Given the description of an element on the screen output the (x, y) to click on. 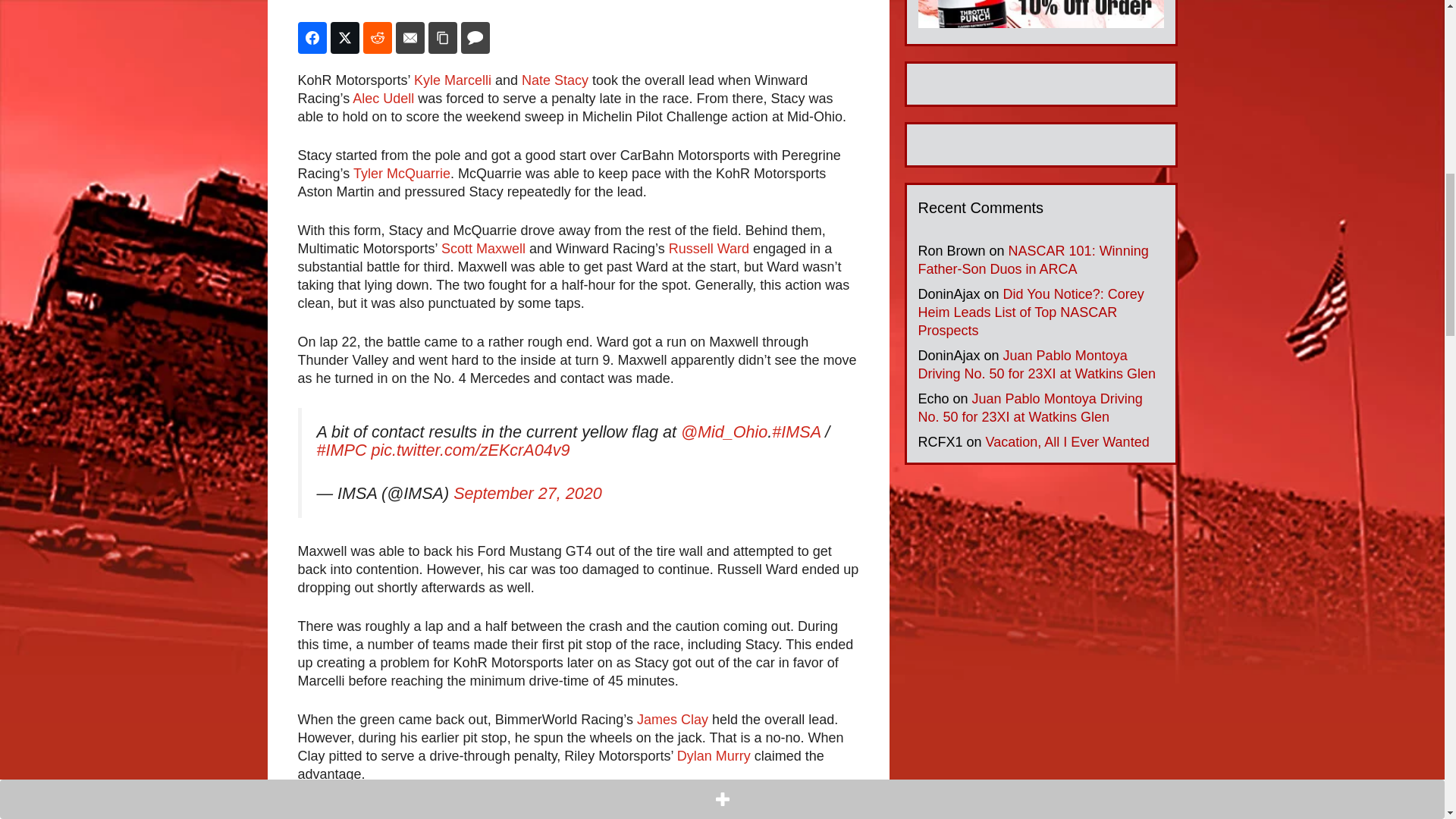
Russell Ward (708, 248)
Bryce Ward (567, 812)
Dylan Murry (714, 755)
Share on Twitter (344, 38)
Share on Email (410, 38)
Nate Stacy (554, 79)
September 27, 2020 (527, 493)
Share on Copy Link (442, 38)
Tyler McQuarrie (401, 173)
Kyle Marcelli (452, 79)
Share on Comments (475, 38)
Share on Reddit (376, 38)
Share on Facebook (311, 38)
Alec Udell (382, 98)
James Clay (672, 719)
